Given the description of an element on the screen output the (x, y) to click on. 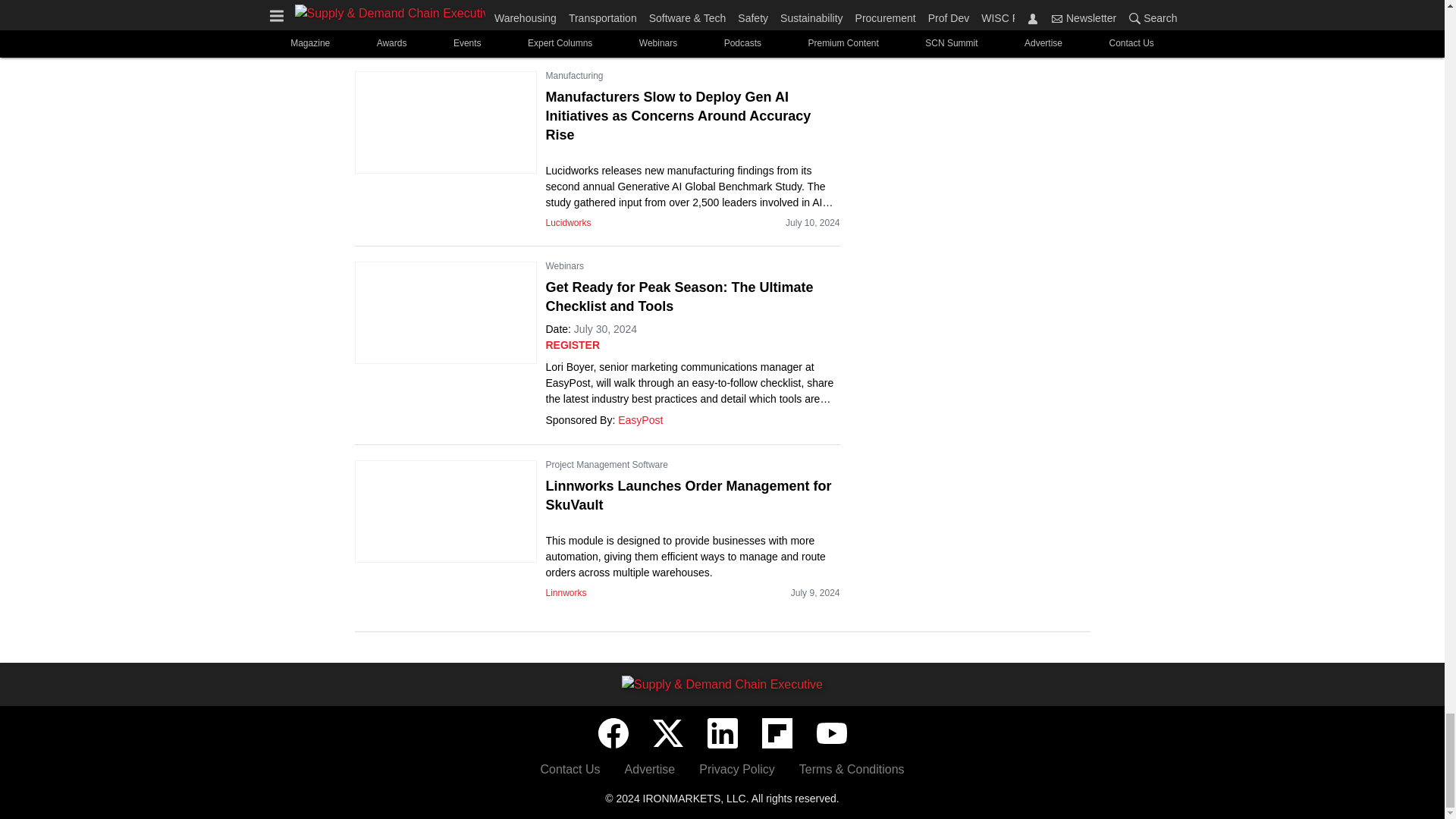
LinkedIn icon (721, 733)
Facebook icon (611, 733)
YouTube icon (830, 733)
Twitter X icon (667, 733)
Flipboard icon (776, 733)
